Given the description of an element on the screen output the (x, y) to click on. 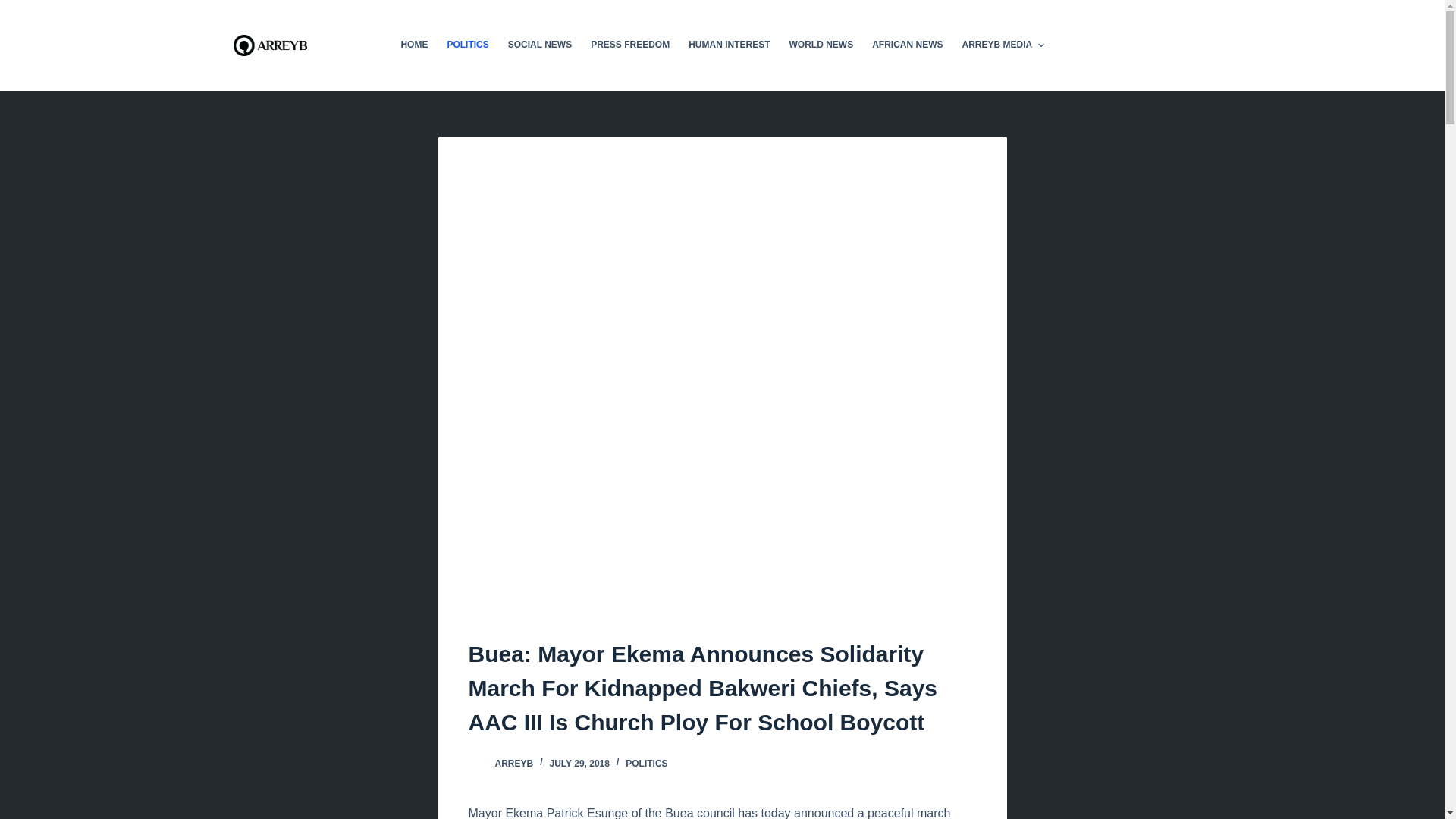
Skip to content (15, 7)
AFRICAN NEWS (907, 45)
Posts by ARREYB (513, 763)
ARREYB MEDIA (1002, 45)
POLITICS (646, 763)
WORLD NEWS (820, 45)
PRESS FREEDOM (629, 45)
HUMAN INTEREST (728, 45)
SOCIAL NEWS (538, 45)
ARREYB (513, 763)
